Given the description of an element on the screen output the (x, y) to click on. 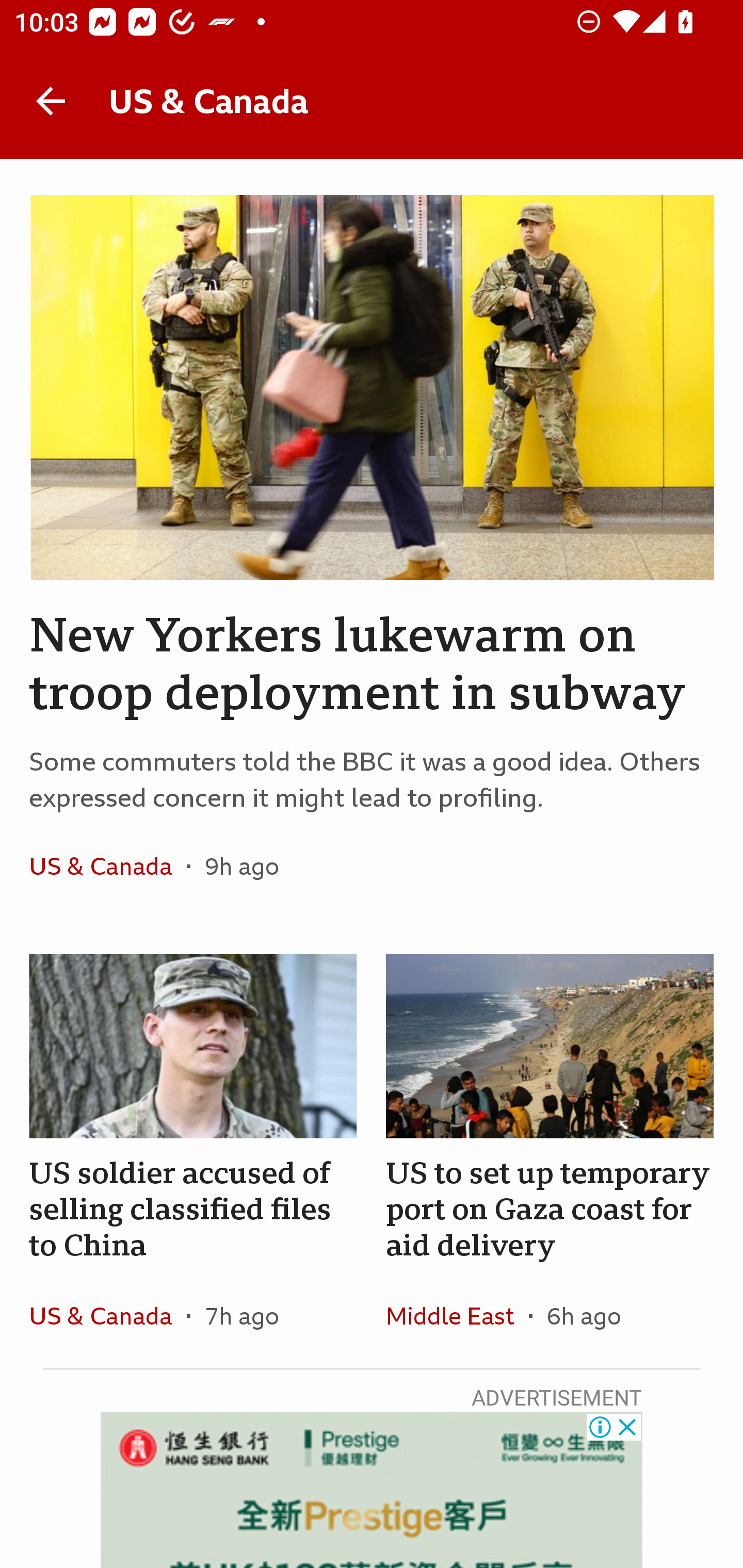
Back (50, 101)
US & Canada In the section US & Canada (107, 865)
US & Canada In the section US & Canada (107, 1315)
Middle East In the section Middle East (457, 1315)
Advertisement (371, 1489)
